Given the description of an element on the screen output the (x, y) to click on. 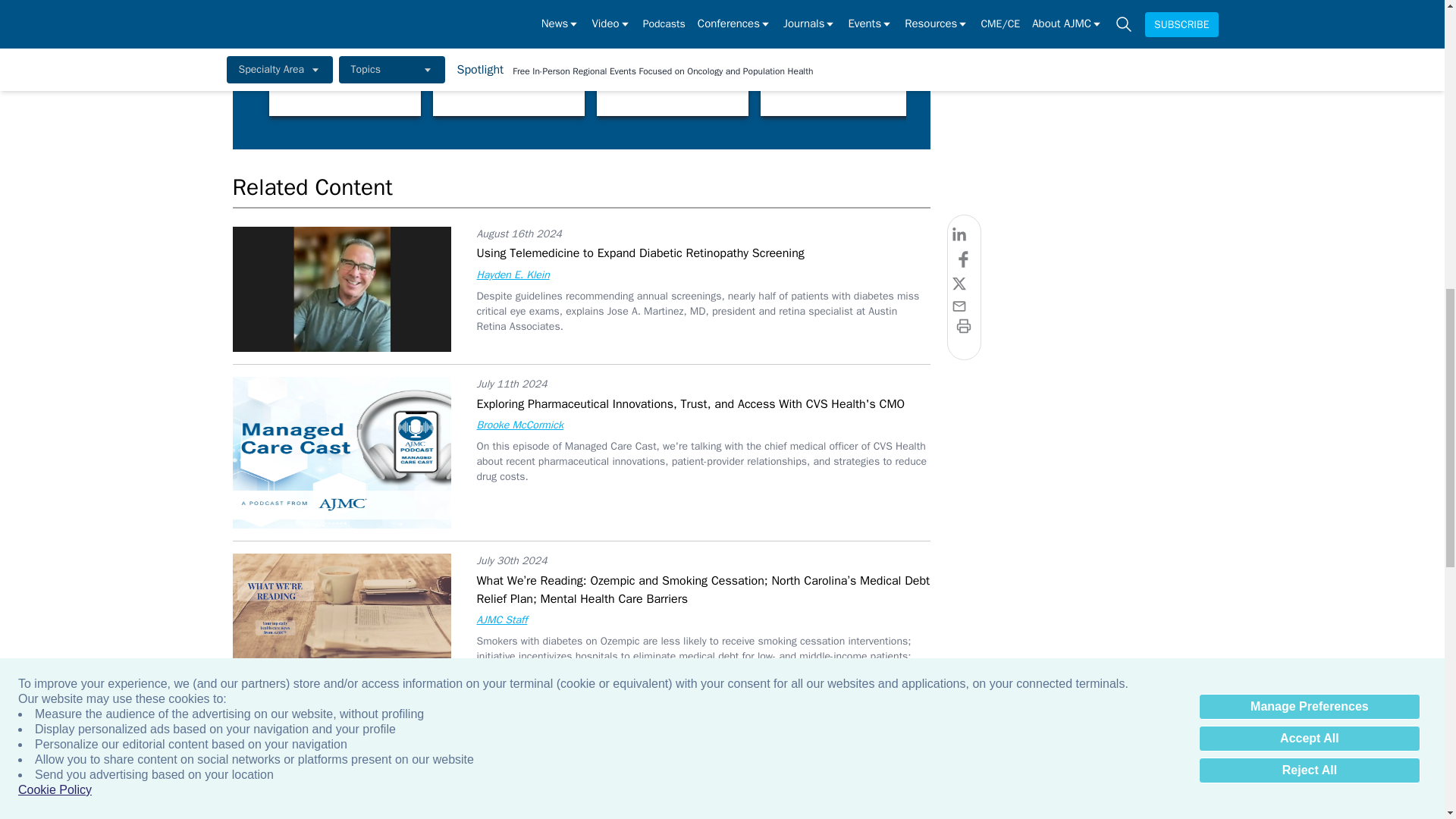
Diana Isaacs, PharmD (1326, 74)
Yael Mauer, MD, MPH (835, 74)
Matthew Callister, MD (507, 74)
Michael A. Choti, MD, MBA (343, 74)
ISPOR 2024 Recap (671, 74)
